Given the description of an element on the screen output the (x, y) to click on. 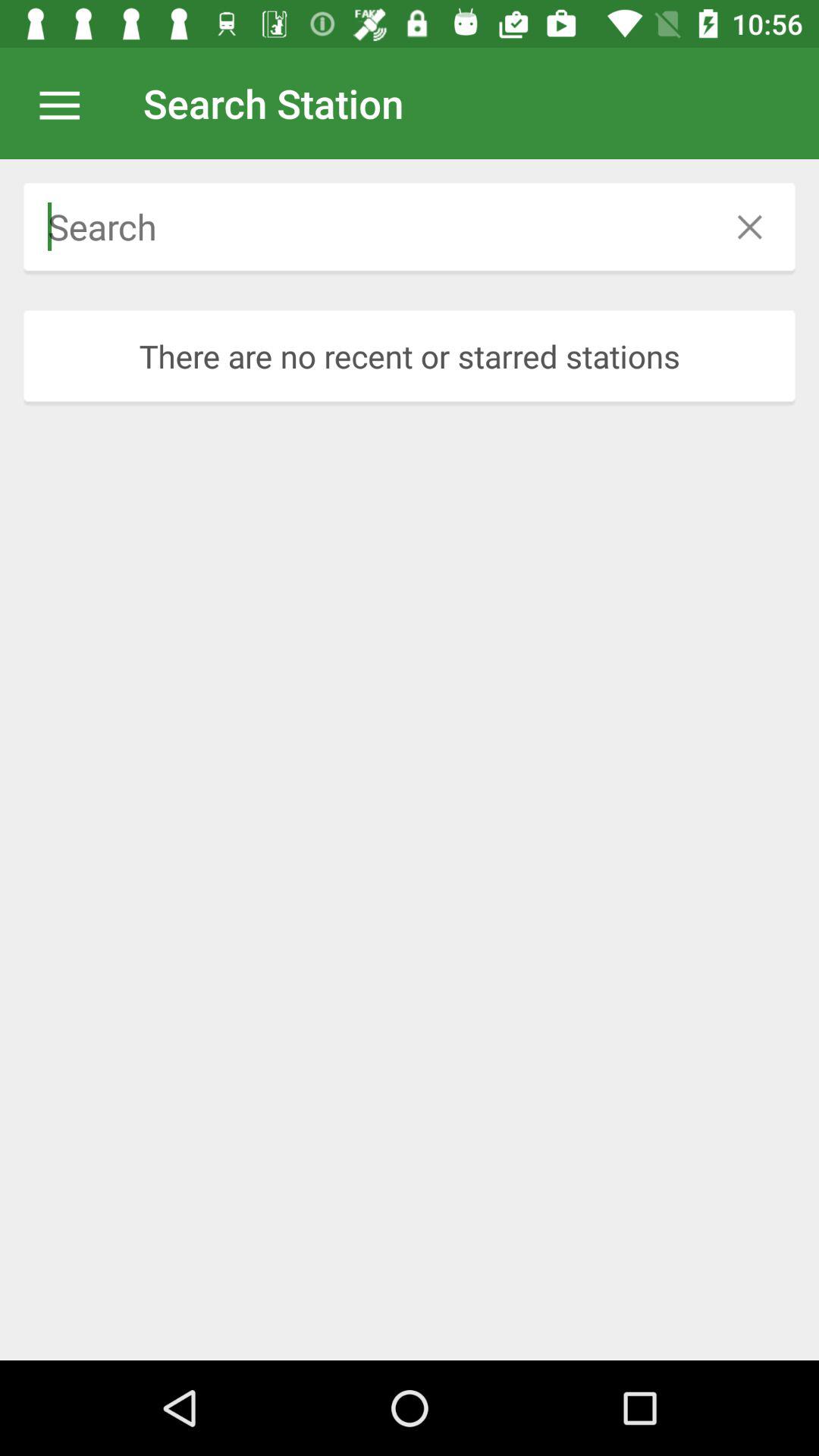
search option (363, 226)
